Given the description of an element on the screen output the (x, y) to click on. 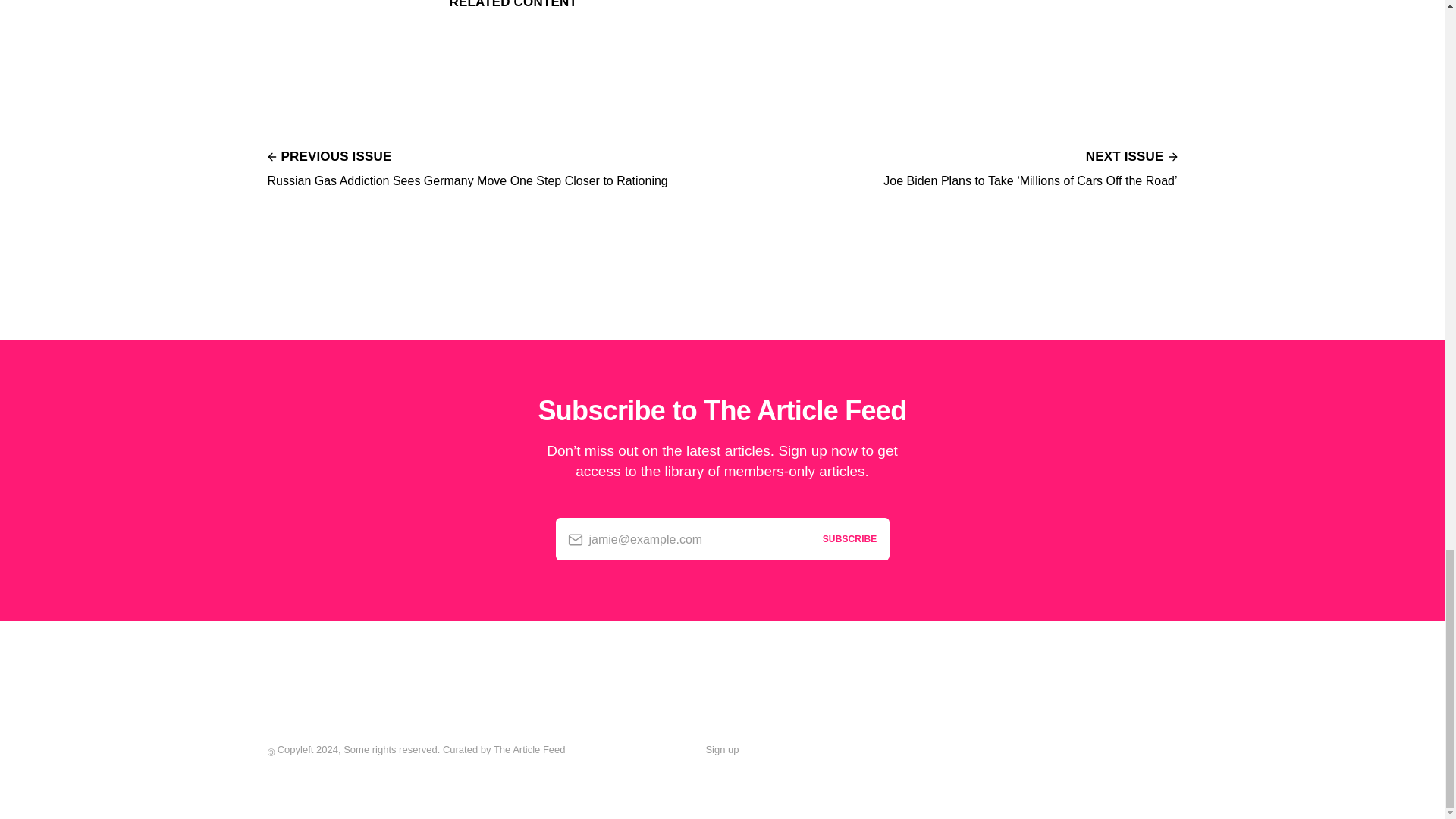
Sign up (721, 750)
The Article Feed (529, 749)
